Given the description of an element on the screen output the (x, y) to click on. 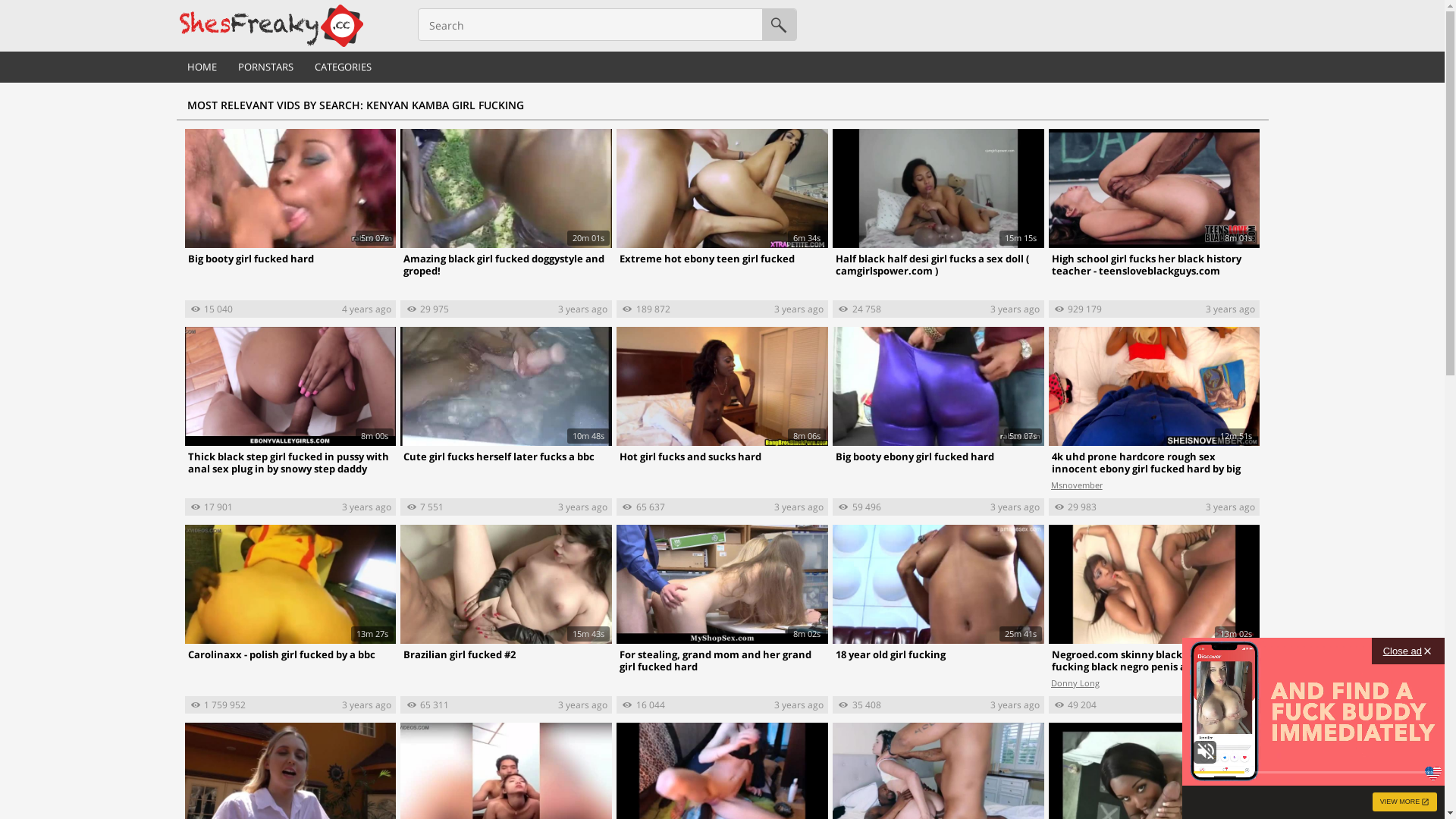
15m 43s
Brazilian girl fucked #2 Element type: text (505, 598)
6m 34s
Extreme hot ebony teen girl fucked Element type: text (722, 202)
PORNSTARS Element type: text (265, 66)
10m 48s
Cute girl fucks herself later fucks a bbc Element type: text (505, 400)
13m 27s
Carolinaxx - polish girl fucked by a bbc Element type: text (290, 598)
Msnovember Element type: text (1076, 485)
5m 07s
Big booty ebony girl fucked hard Element type: text (938, 400)
Donny Long Element type: text (1075, 683)
25m 41s
18 year old girl fucking Element type: text (938, 598)
20m 01s
Amazing black girl fucked doggystyle and groped! Element type: text (505, 202)
8m 06s
Hot girl fucks and sucks hard Element type: text (722, 400)
CATEGORIES Element type: text (342, 66)
HOME Element type: text (200, 66)
5m 07s
Big booty girl fucked hard Element type: text (290, 202)
